Given the description of an element on the screen output the (x, y) to click on. 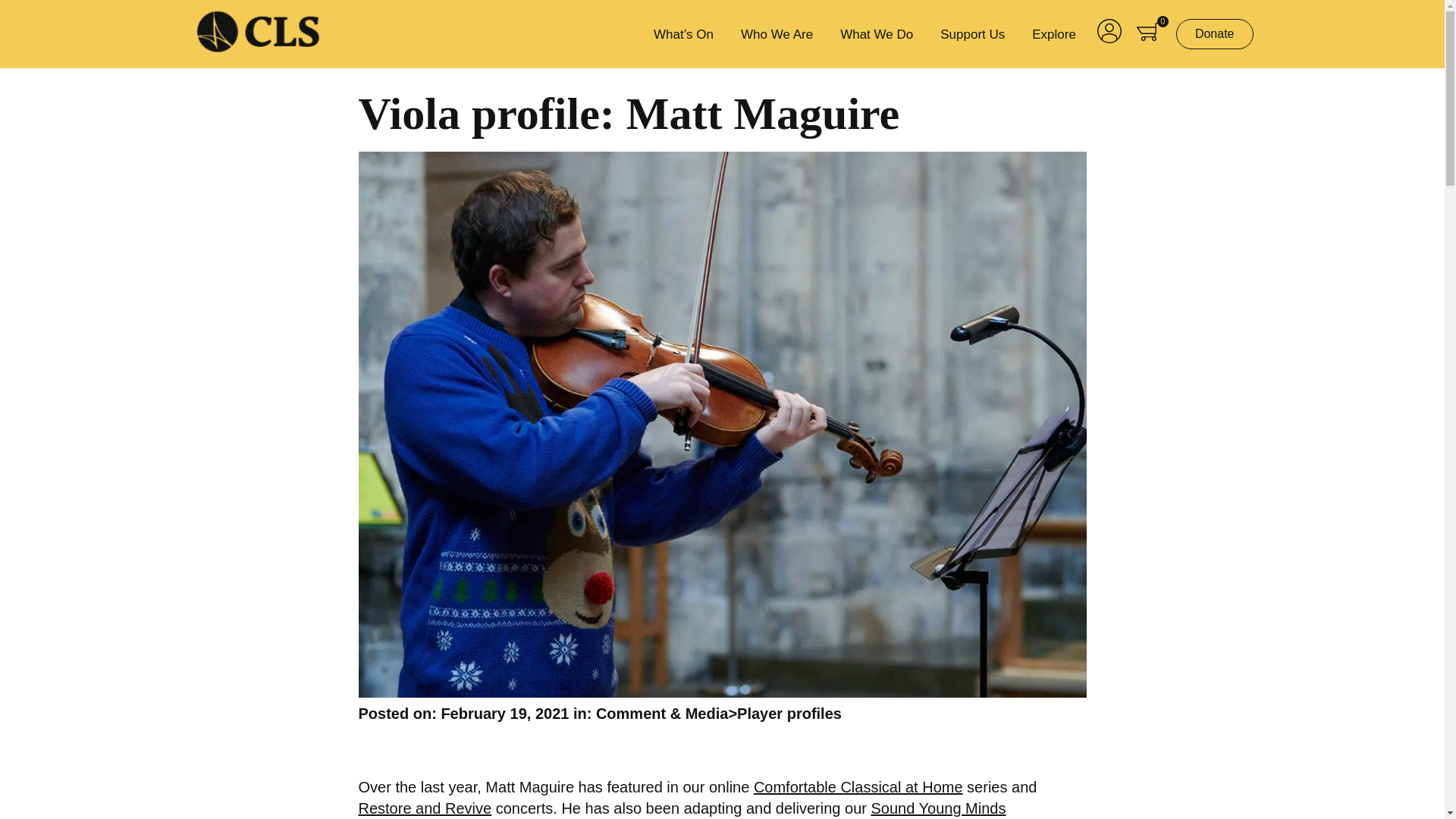
Who We Are (776, 33)
Restore and Revive (425, 807)
Sound Young Minds (938, 807)
Donate (1214, 33)
Explore (1053, 33)
Support Us (971, 33)
What We Do (876, 33)
0 (1148, 35)
Comfortable Classical at Home (858, 786)
